Given the description of an element on the screen output the (x, y) to click on. 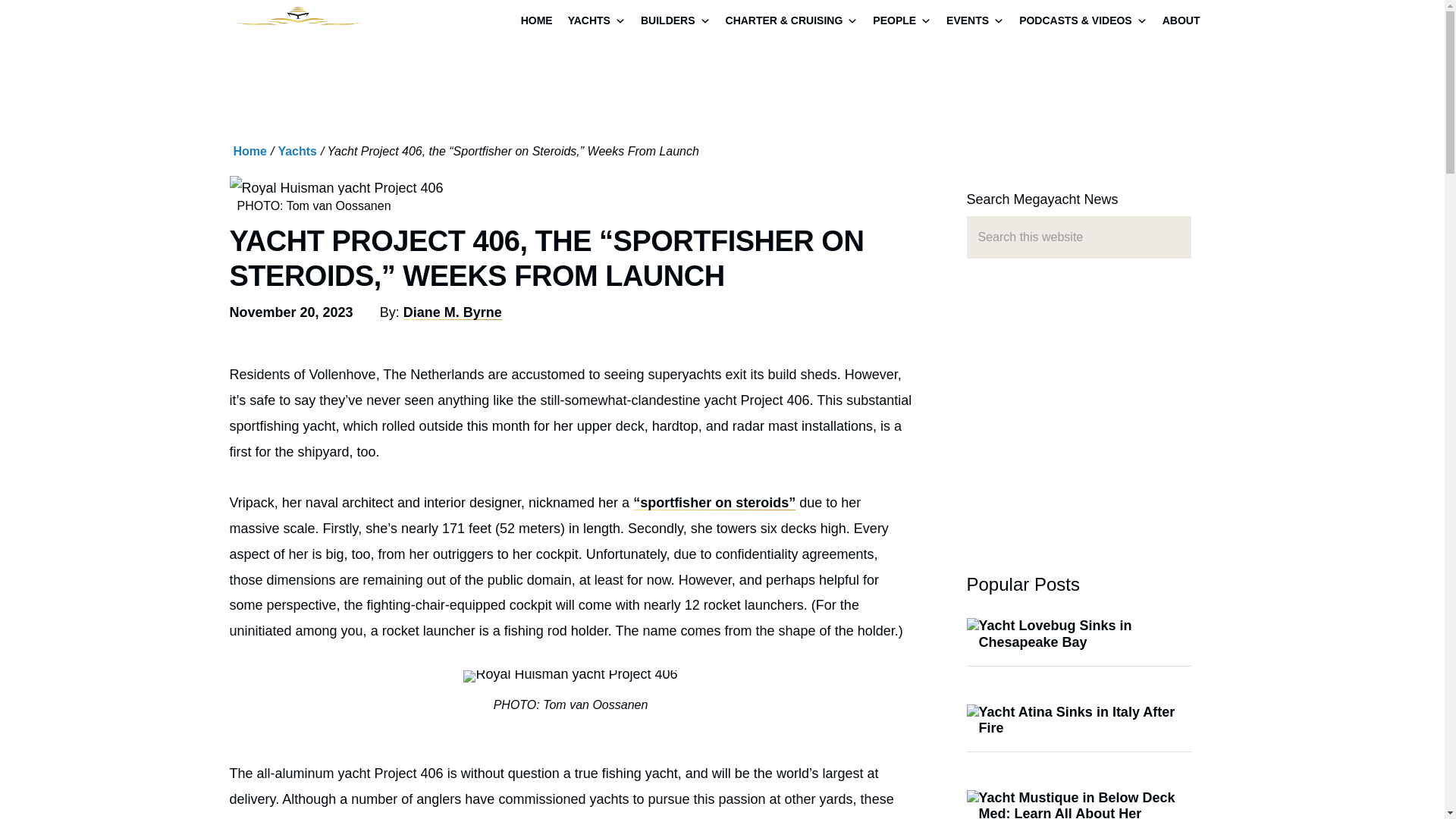
HOME (536, 22)
YACHTS (596, 22)
